Given the description of an element on the screen output the (x, y) to click on. 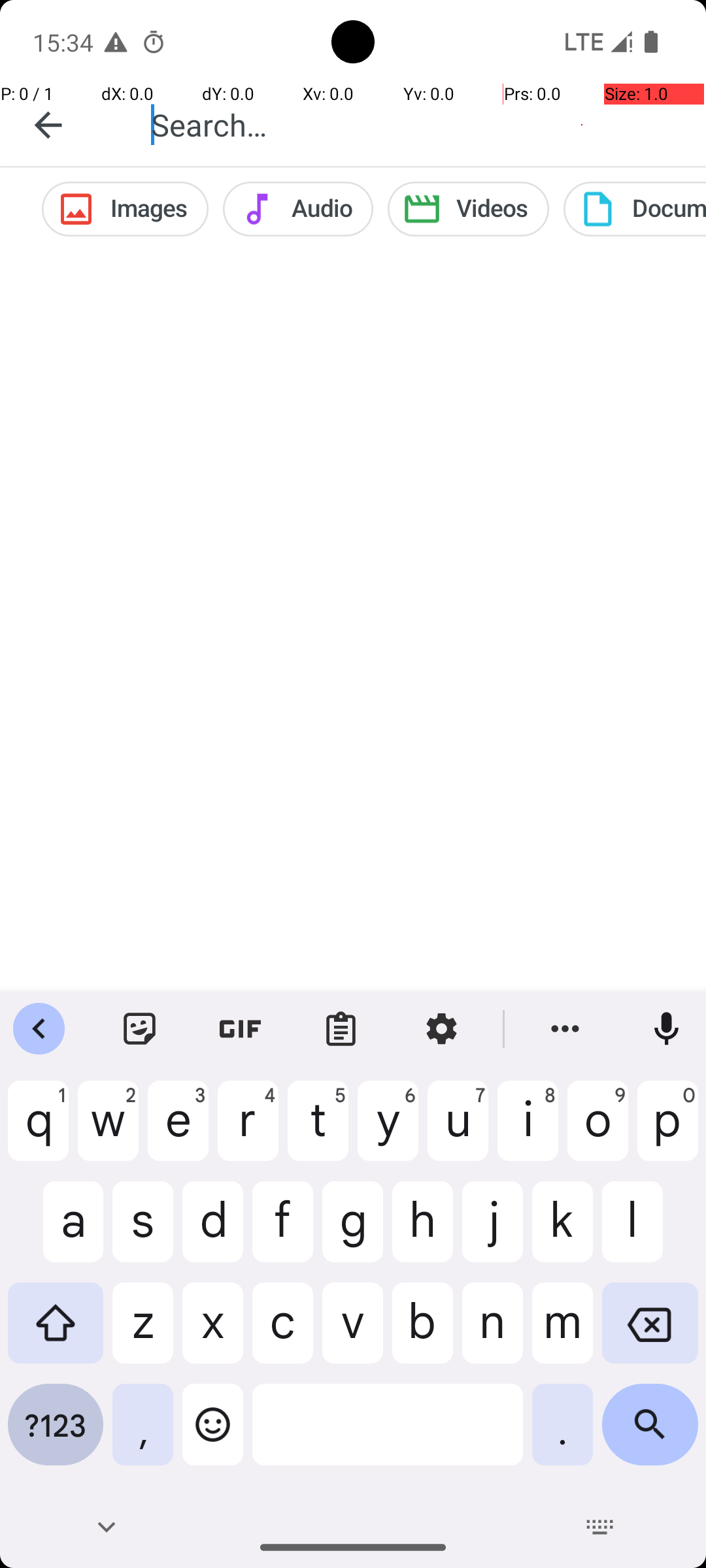
Search… Element type: android.widget.AutoCompleteTextView (414, 124)
